Given the description of an element on the screen output the (x, y) to click on. 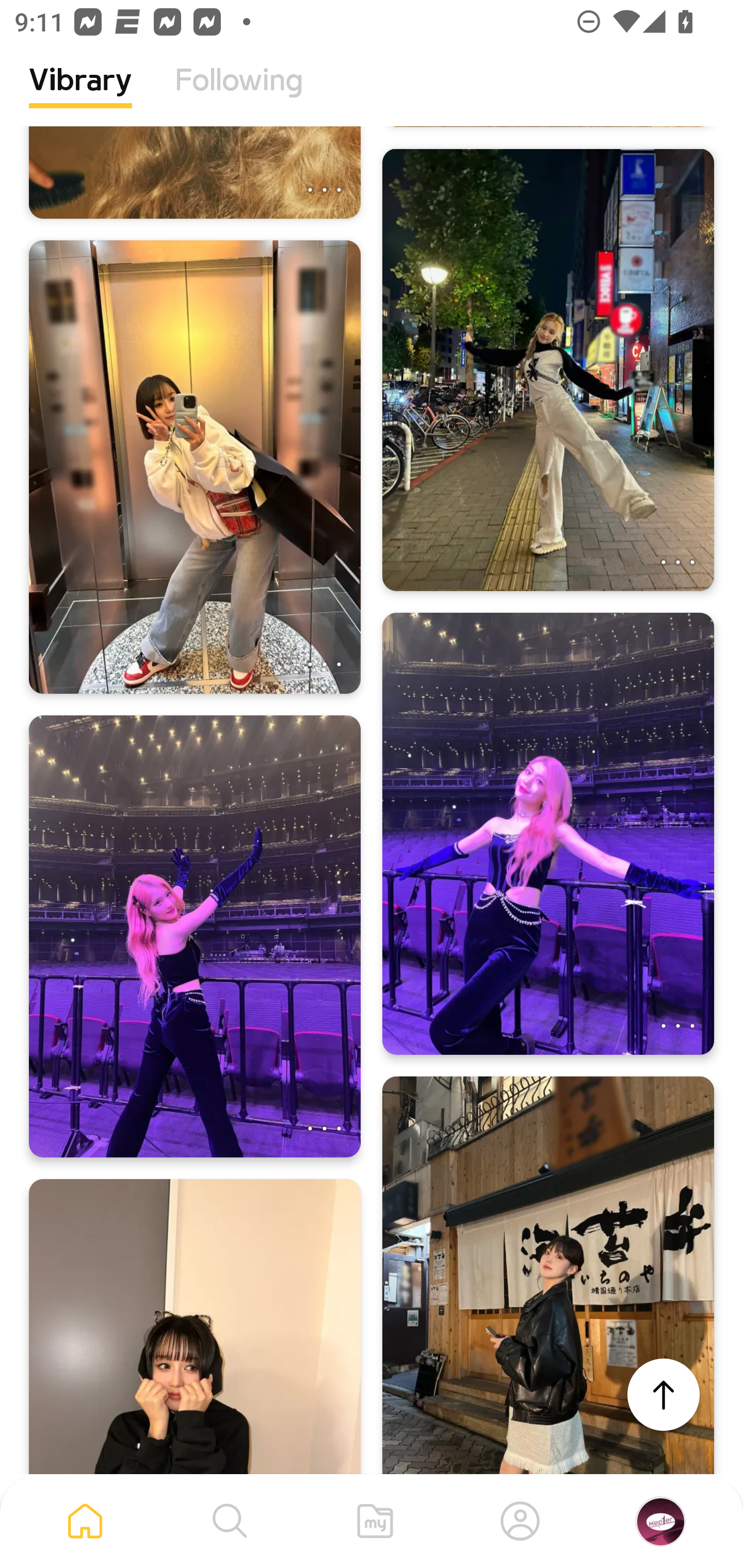
Vibrary (80, 95)
Following (239, 95)
